Given the description of an element on the screen output the (x, y) to click on. 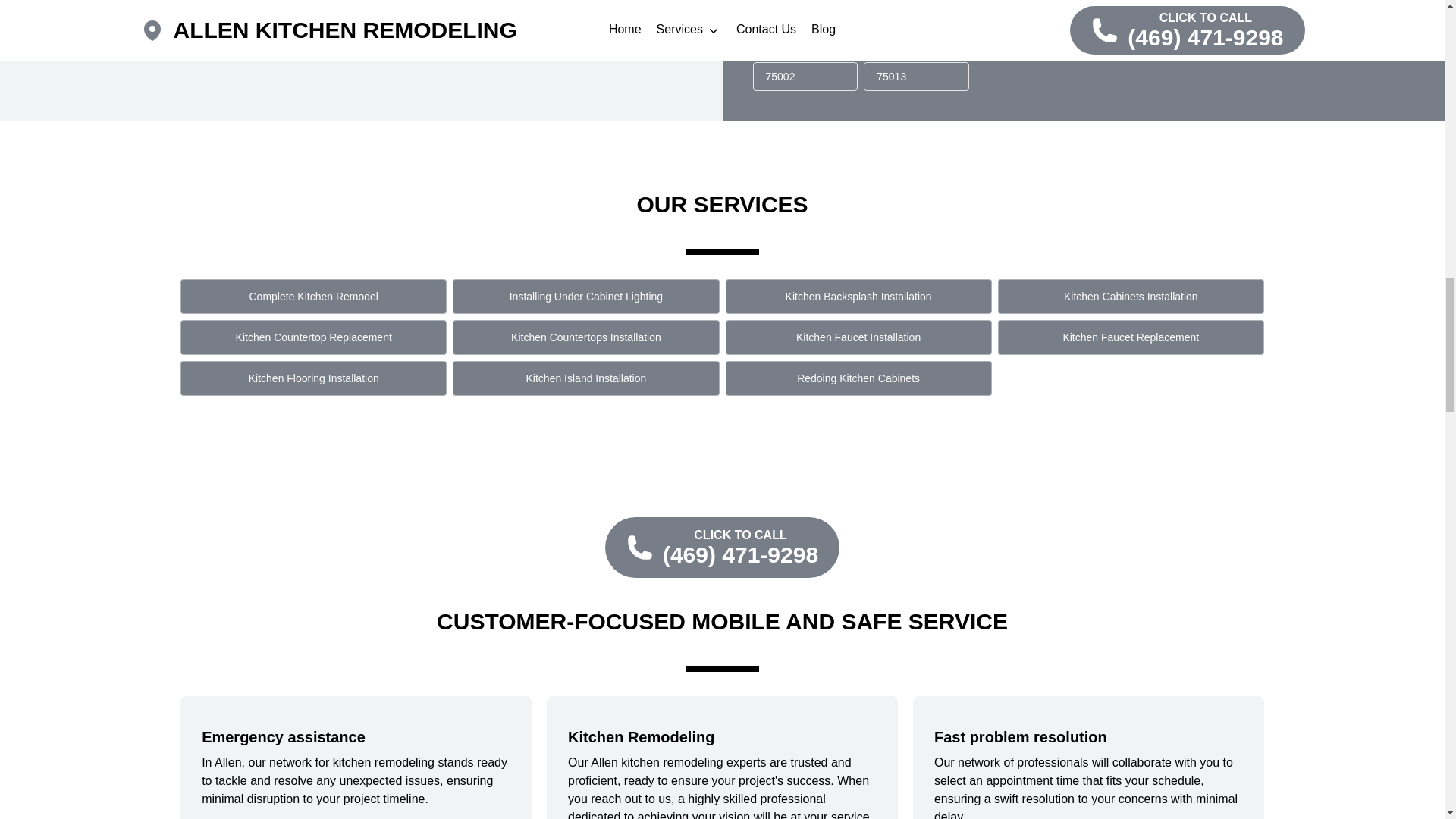
Kitchen Countertops Installation (585, 337)
75013 (916, 76)
Kitchen Faucet Replacement (1130, 337)
Click to call us (722, 547)
Redoing Kitchen Cabinets (858, 378)
Kitchen Faucet Installation (858, 337)
Installing Under Cabinet Lighting (585, 296)
Kitchen Cabinets Installation (1130, 296)
Complete Kitchen Remodel (313, 296)
Kitchen Flooring Installation (313, 378)
Kitchen Countertop Replacement (313, 337)
75002 (804, 76)
Kitchen Island Installation (585, 378)
Kitchen Backsplash Installation (858, 296)
